Given the description of an element on the screen output the (x, y) to click on. 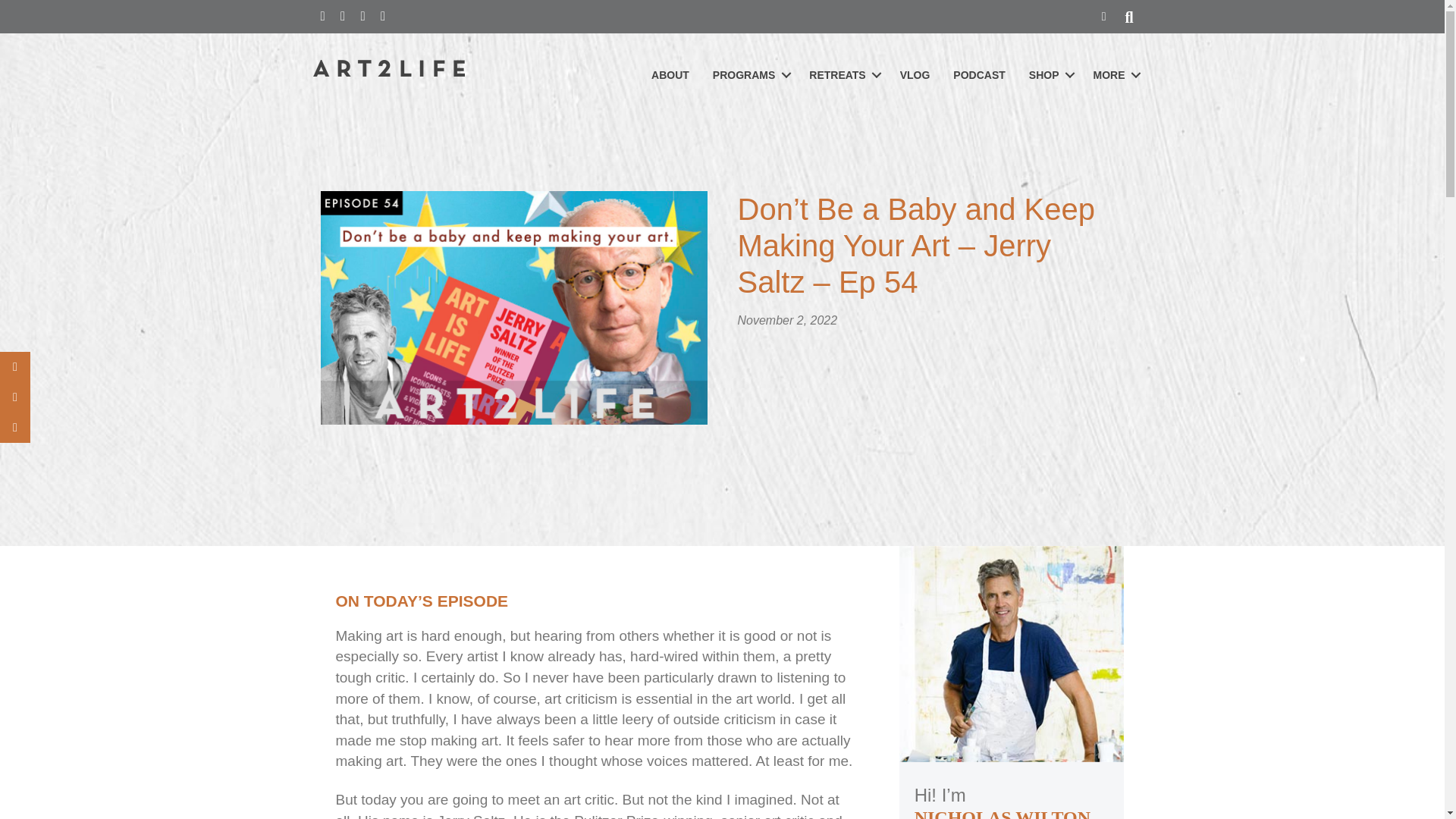
RETREATS (841, 75)
ABOUT (670, 75)
SHOP (1049, 75)
VLOG (915, 75)
PROGRAMS (748, 75)
Ep 054 Featured Image Podcast (513, 307)
PODCAST (979, 75)
